Given the description of an element on the screen output the (x, y) to click on. 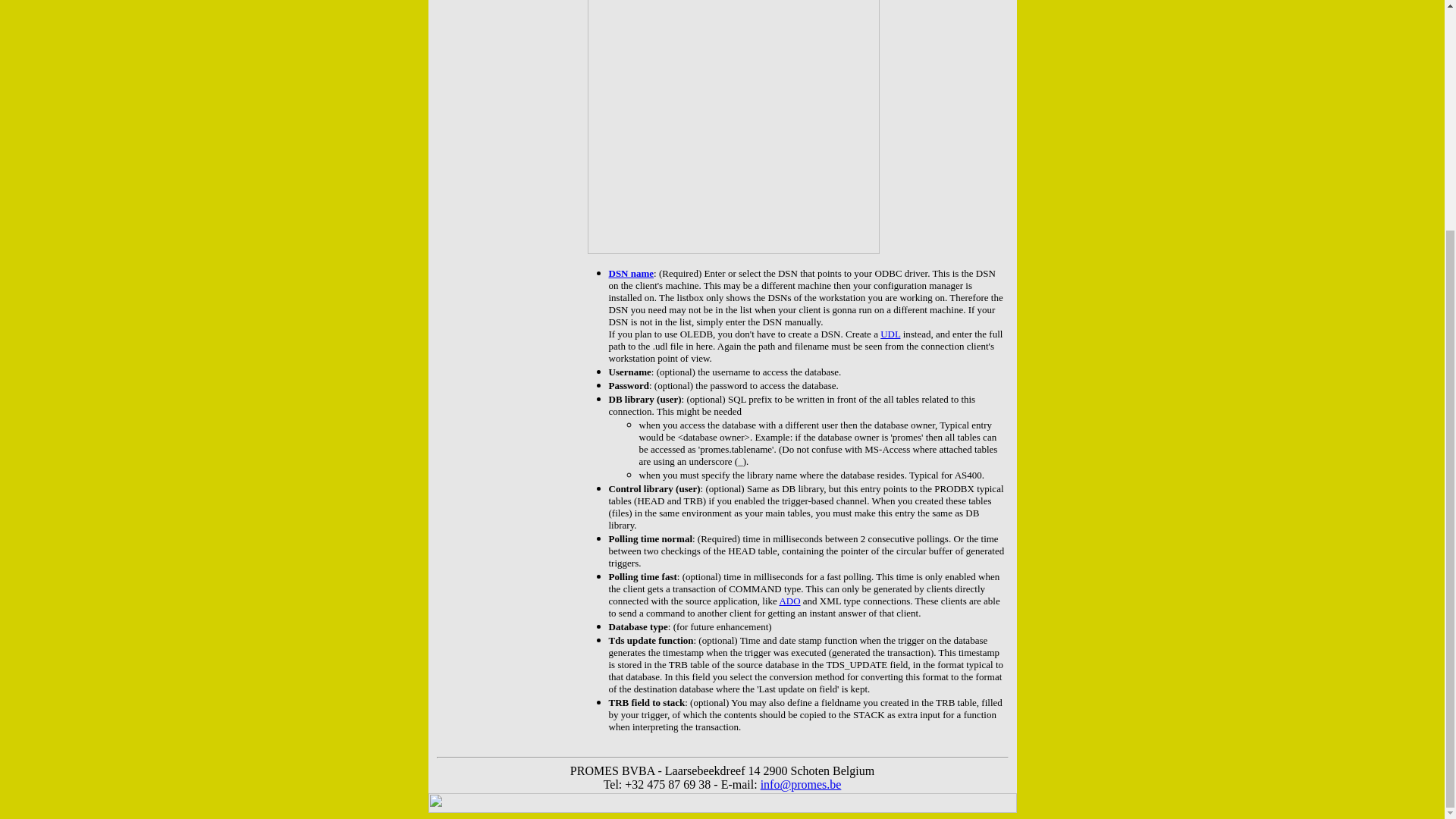
UDL (889, 333)
ADO (788, 600)
DSN name (630, 273)
